Given the description of an element on the screen output the (x, y) to click on. 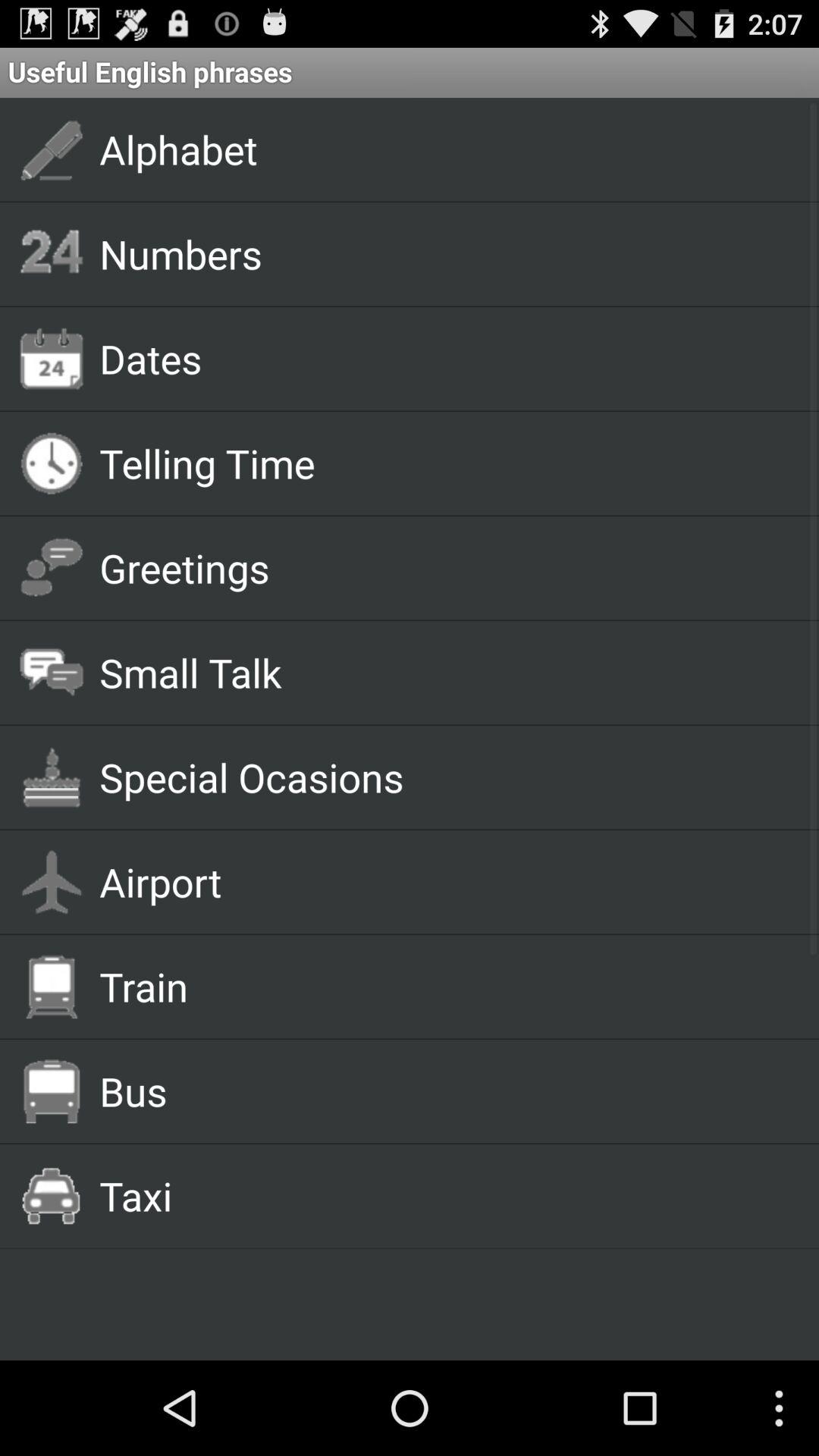
launch the telling time app (441, 462)
